Given the description of an element on the screen output the (x, y) to click on. 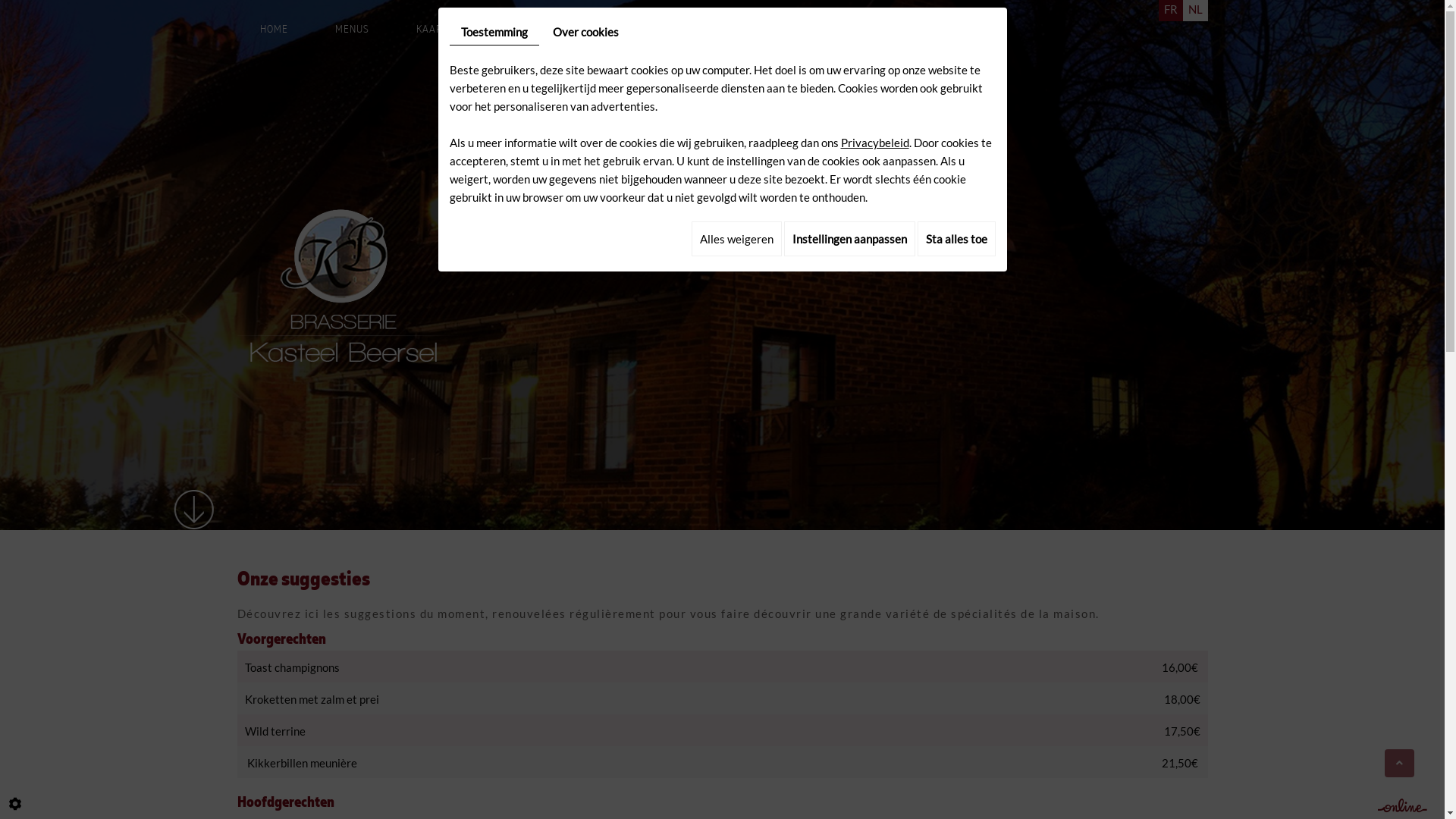
KAART Element type: text (432, 29)
MENUS Element type: text (351, 29)
CONTACT Element type: text (788, 29)
Over cookies Element type: text (585, 31)
Privacybeleid Element type: text (874, 142)
EVENTS Element type: text (620, 29)
Cookie-instelling bewerken Element type: text (14, 803)
Toestemming Element type: text (493, 31)
SUGGESTIES Element type: text (525, 29)
Instellingen aanpassen Element type: text (849, 238)
FOTO'S Element type: text (702, 29)
HOME Element type: text (273, 29)
Alles weigeren Element type: text (736, 238)
Sta alles toe Element type: text (956, 238)
